Given the description of an element on the screen output the (x, y) to click on. 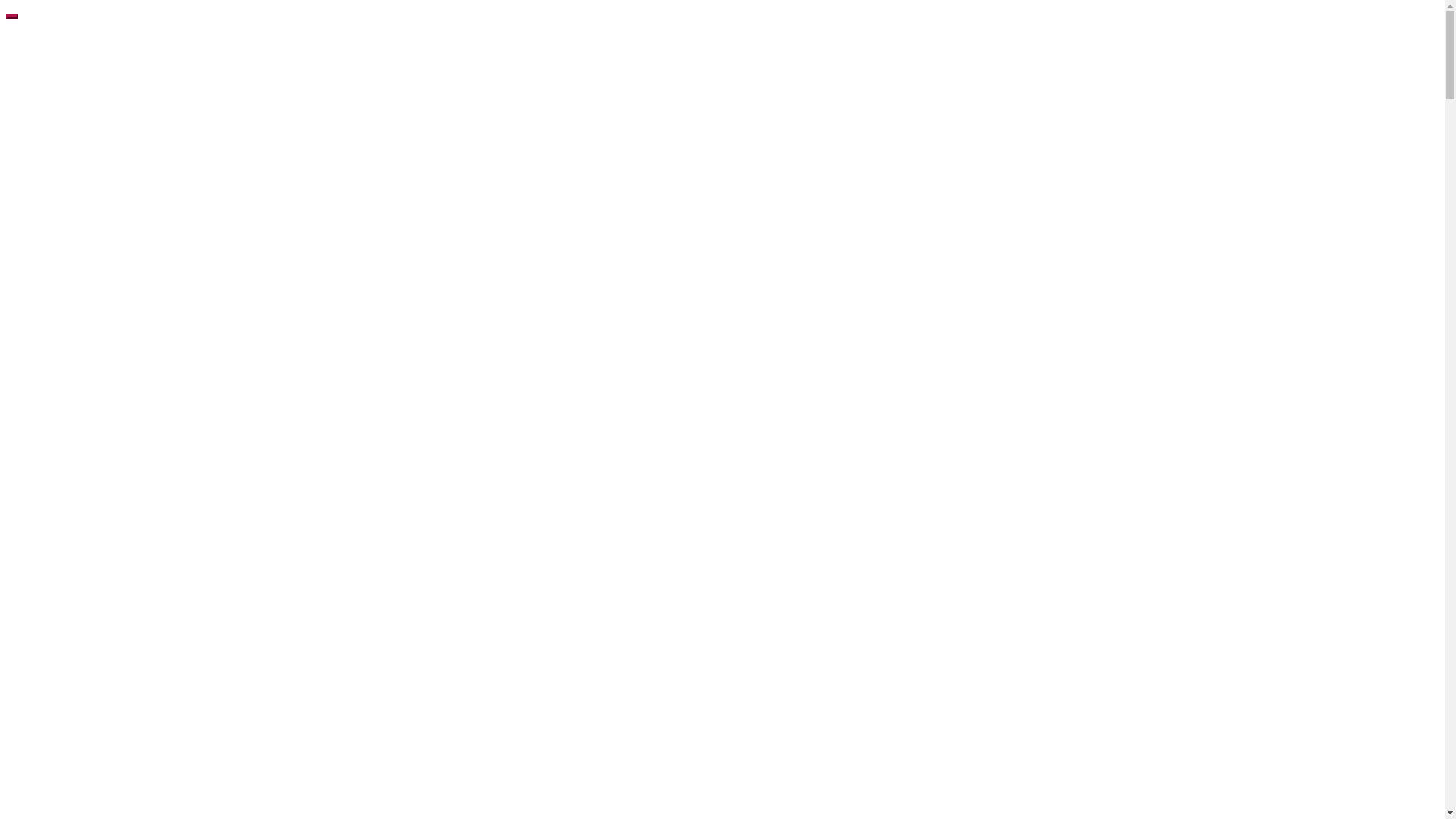
Skip to content Element type: text (5, 5)
